Given the description of an element on the screen output the (x, y) to click on. 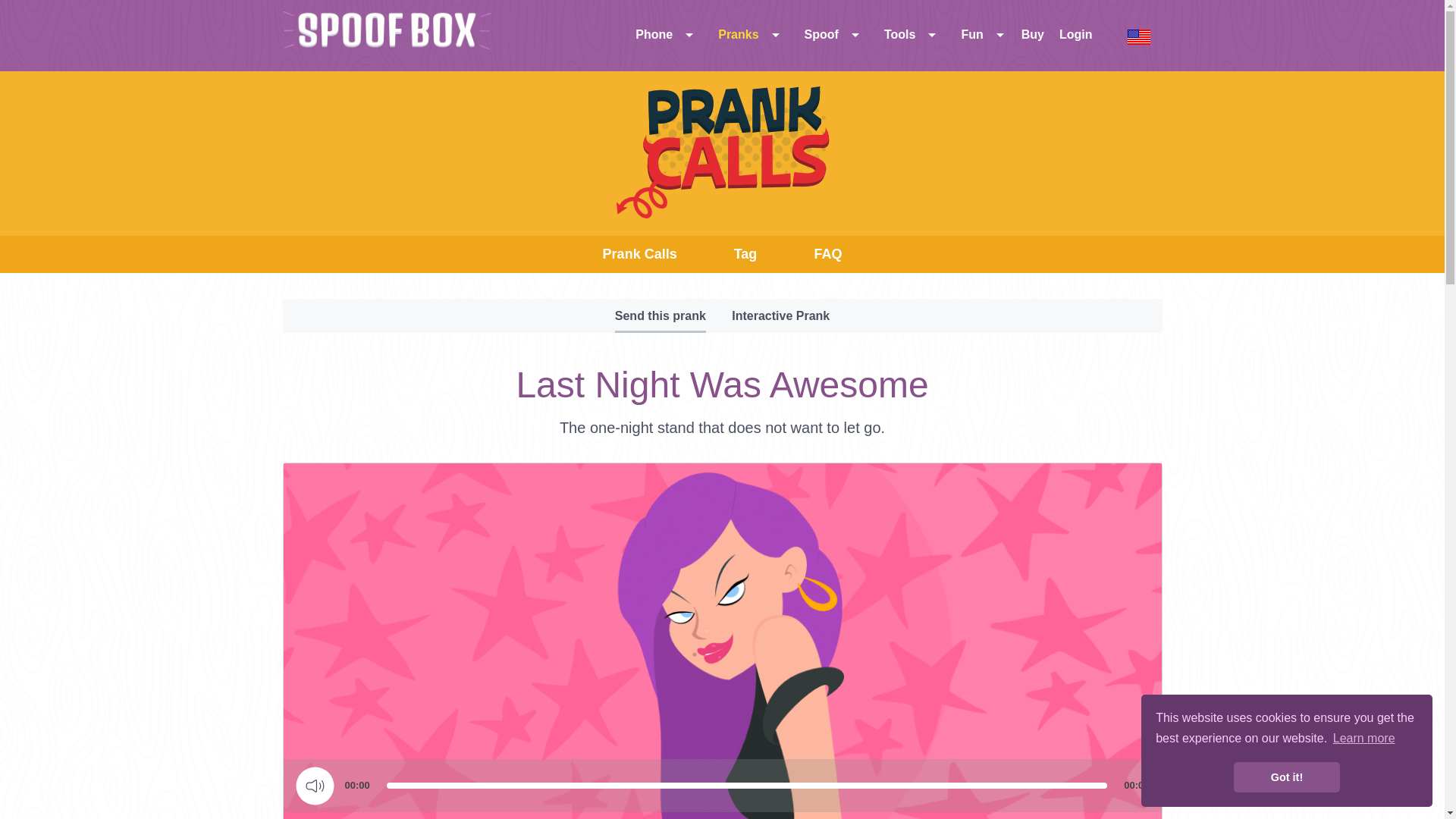
Play (314, 785)
Change language (1138, 35)
Learn more (1363, 738)
Got it! (1286, 777)
